Given the description of an element on the screen output the (x, y) to click on. 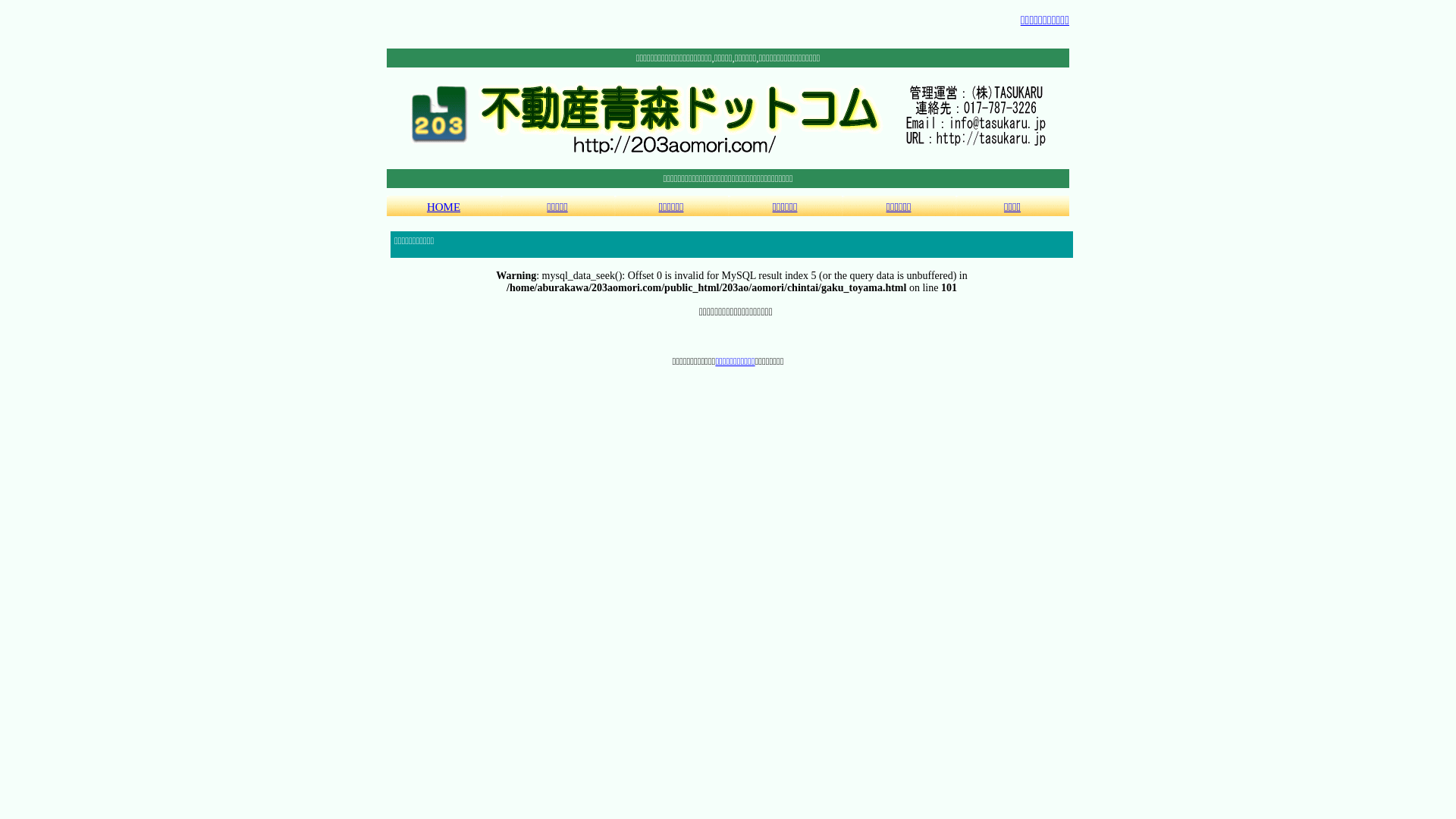
HOME Element type: text (443, 205)
